Given the description of an element on the screen output the (x, y) to click on. 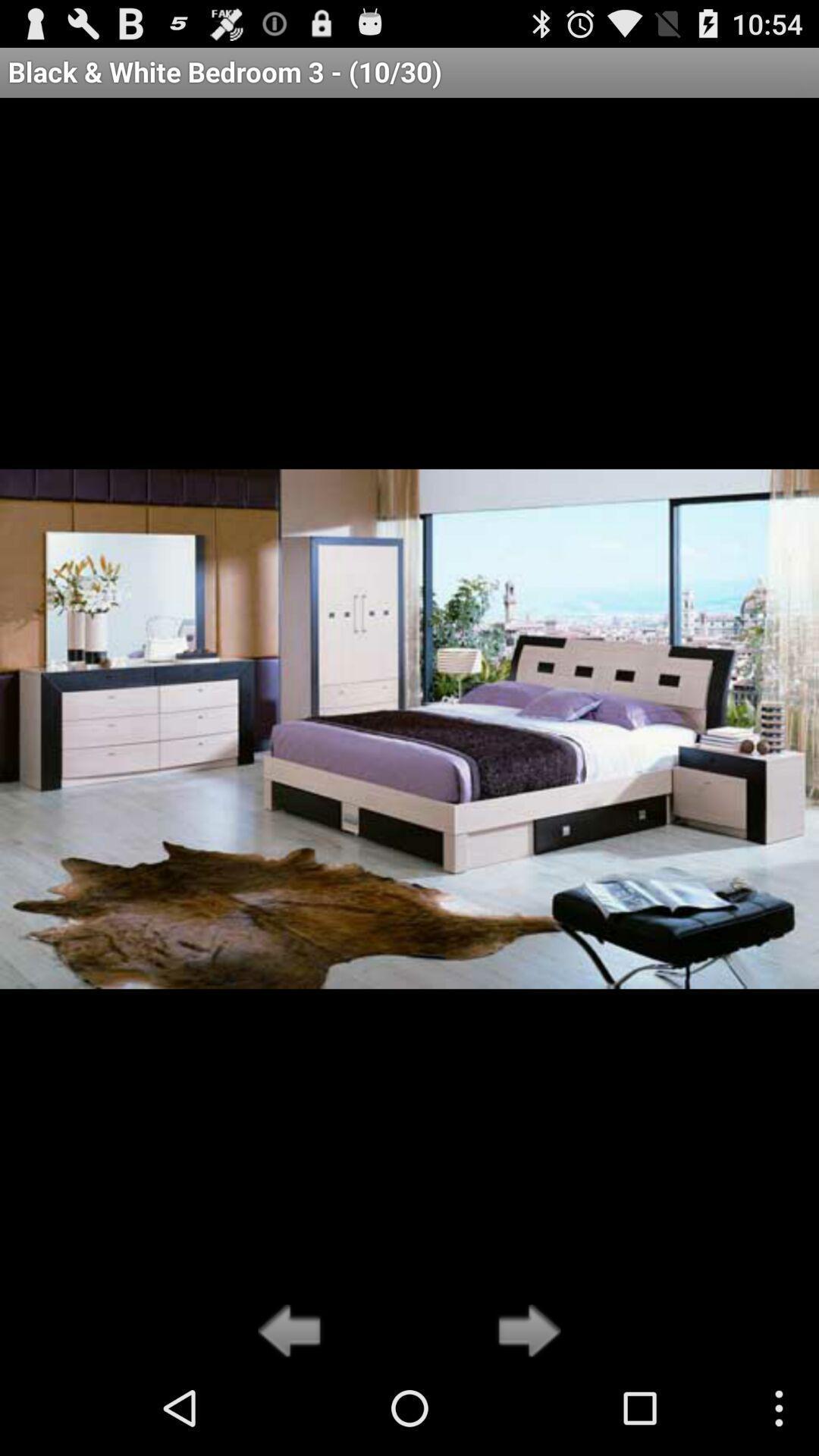
go to the next page (524, 1332)
